Given the description of an element on the screen output the (x, y) to click on. 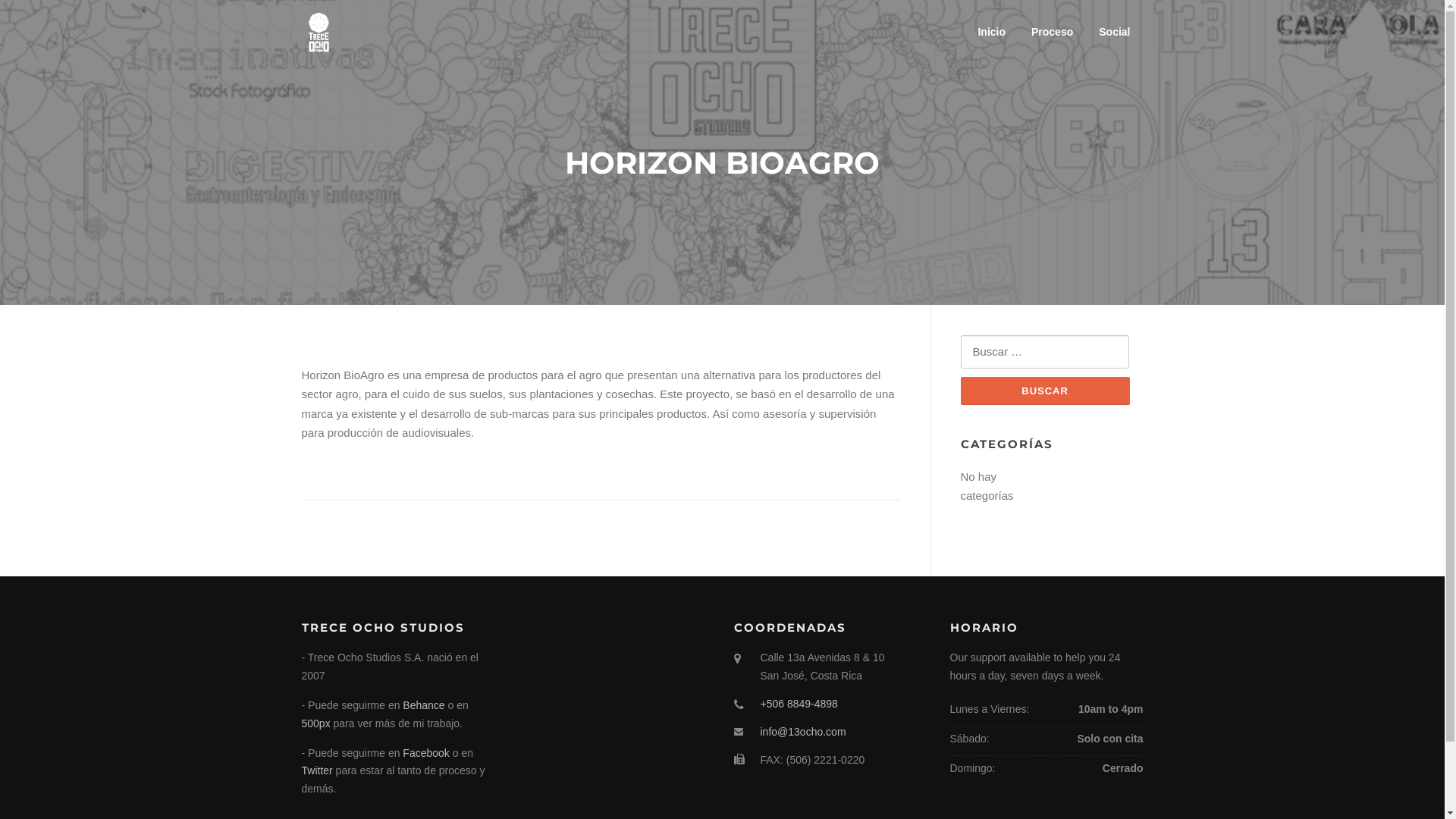
500px Element type: text (315, 723)
Behance Element type: text (423, 705)
Facebook Element type: text (425, 752)
Inicio Element type: text (991, 32)
+506 8849-4898 Element type: text (798, 703)
info@13ocho.com Element type: text (802, 731)
Twitter Element type: text (316, 770)
Social Element type: text (1113, 32)
Buscar Element type: text (1044, 390)
Proceso Element type: text (1051, 32)
